Given the description of an element on the screen output the (x, y) to click on. 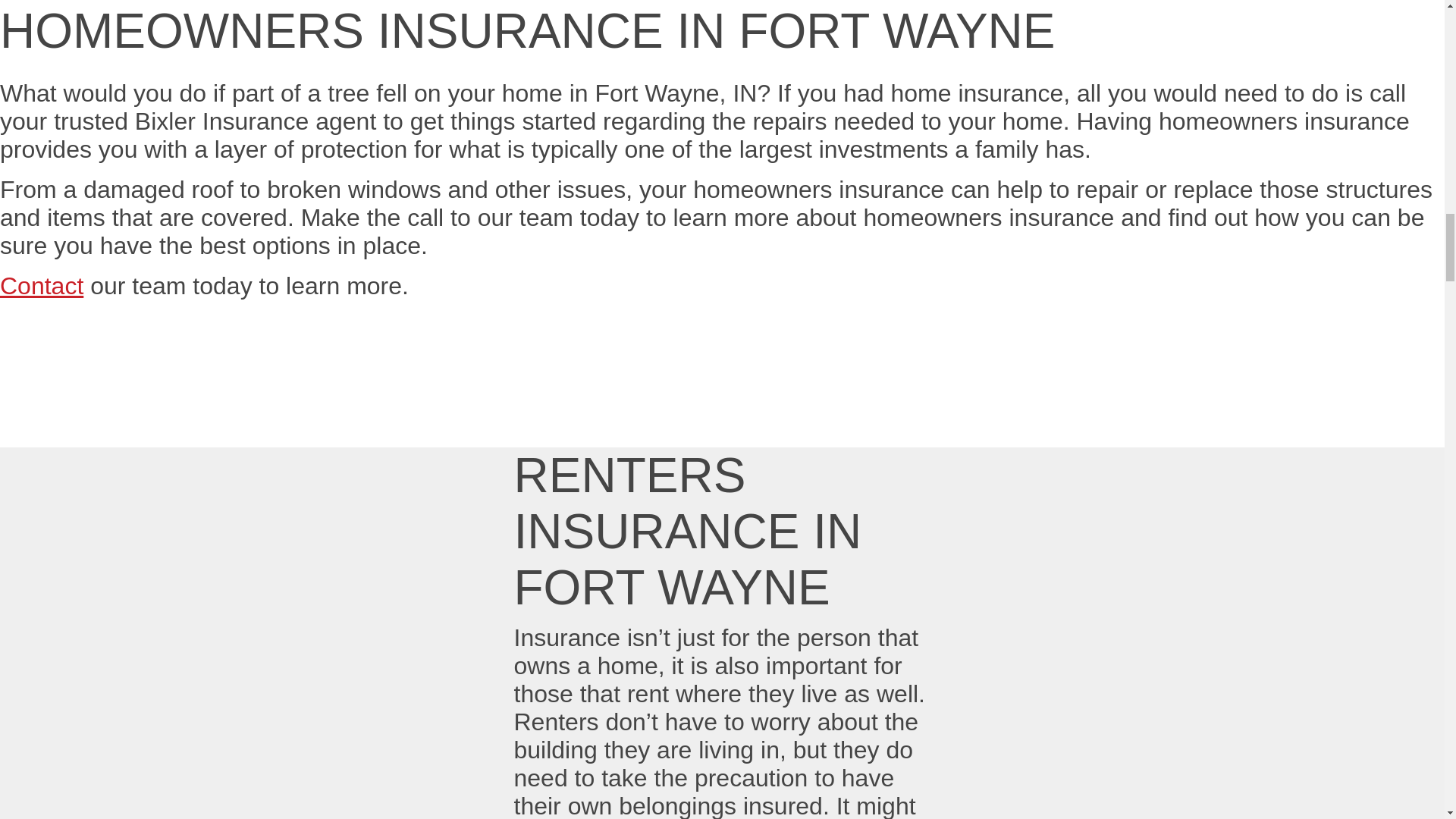
Contact (41, 285)
